Given the description of an element on the screen output the (x, y) to click on. 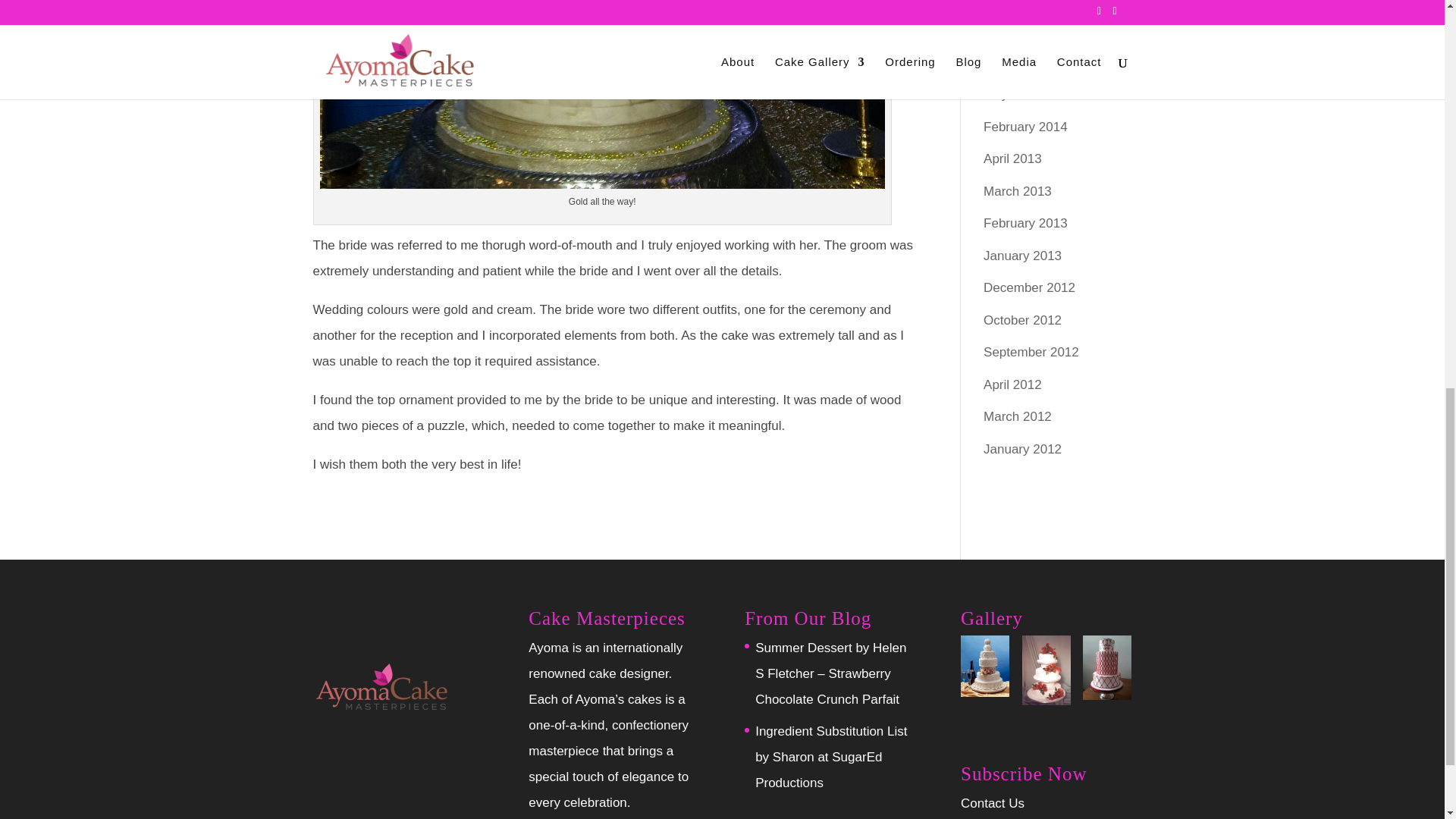
August 2014 (1019, 29)
June 2014 (1013, 61)
December 2014 (1029, 2)
